Given the description of an element on the screen output the (x, y) to click on. 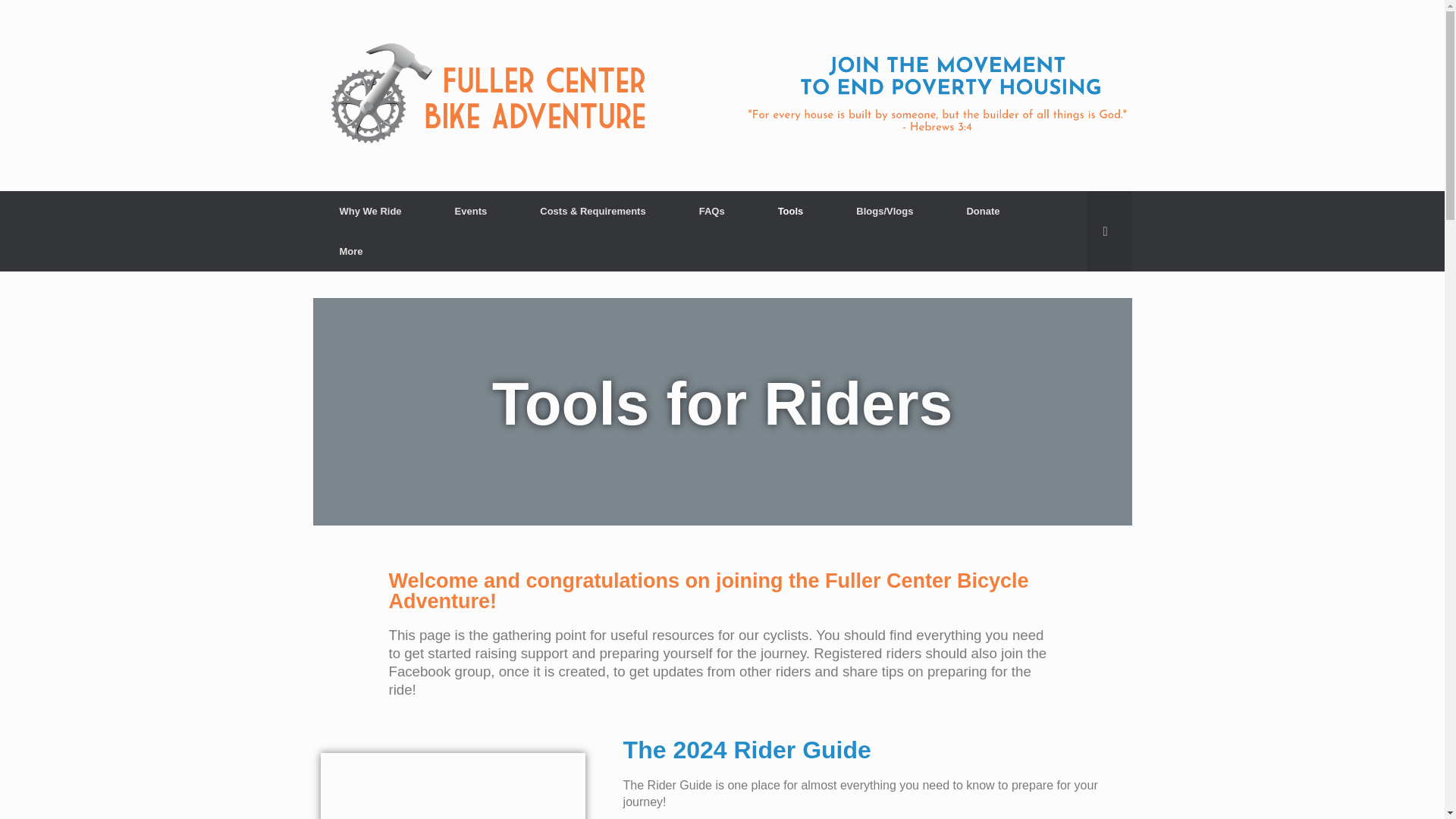
Fuller Center Bike Adventure (722, 95)
Donate (982, 210)
More (350, 250)
FAQs (711, 210)
Why We Ride (370, 210)
Tools (790, 210)
Events (470, 210)
